Given the description of an element on the screen output the (x, y) to click on. 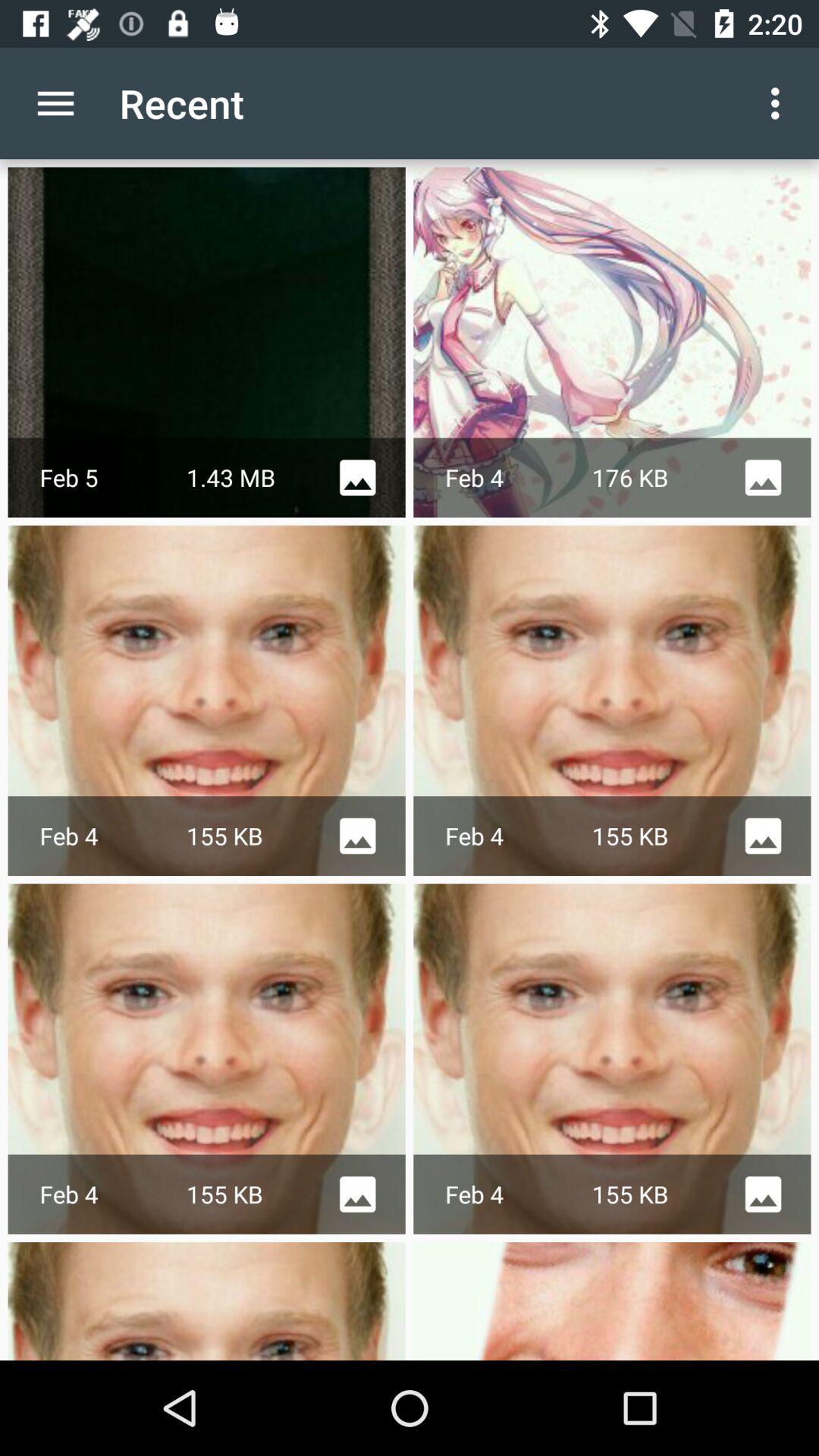
select item to the left of the recent app (55, 103)
